Given the description of an element on the screen output the (x, y) to click on. 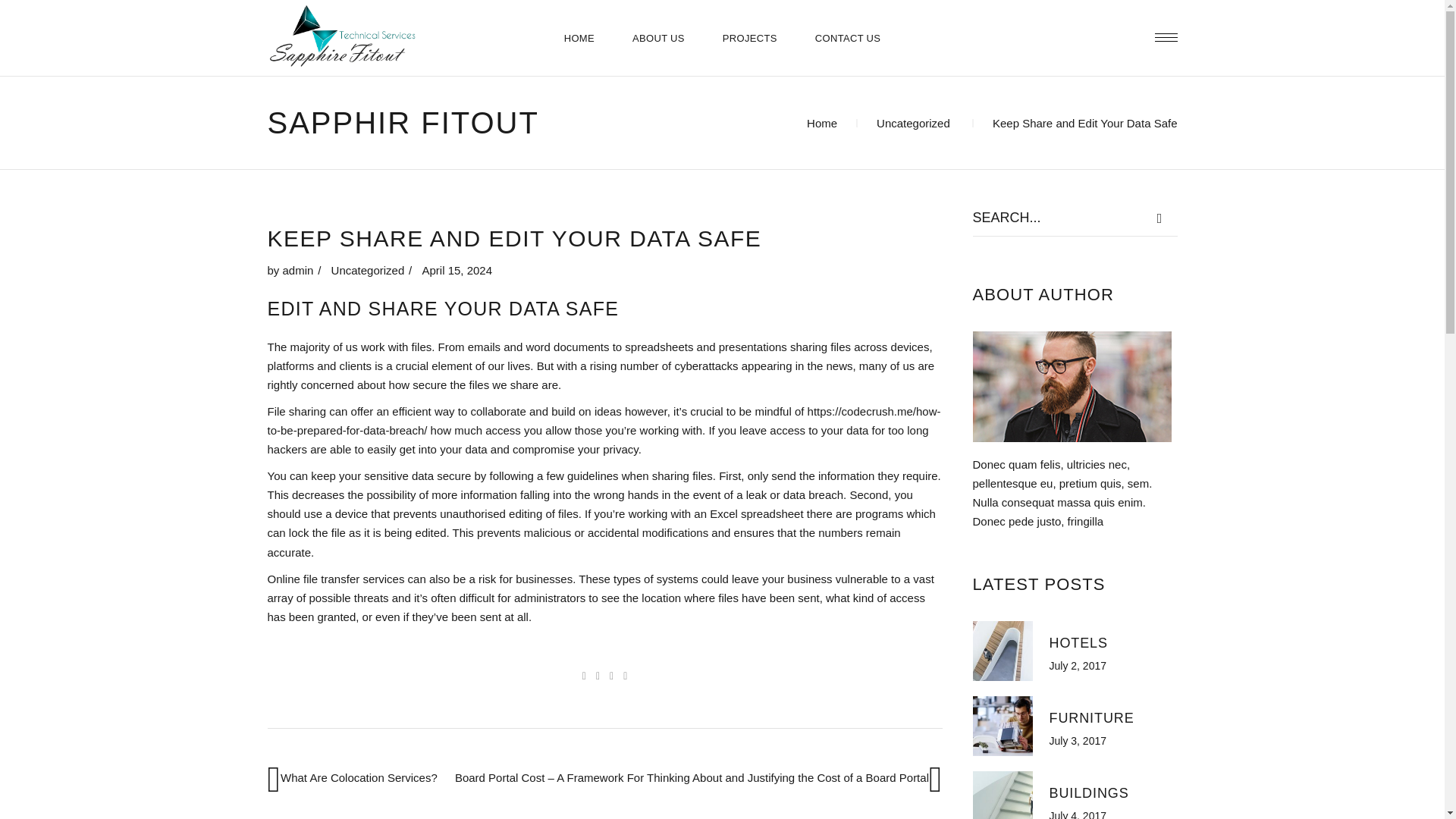
Buildings (1089, 792)
Furniture (1091, 717)
PROJECTS (749, 38)
Uncategorized (913, 122)
Hotels (1078, 642)
Uncategorized (367, 269)
Buildings (1002, 795)
Furniture (1002, 725)
Hotels (1002, 650)
ABOUT US (657, 38)
April 15, 2024 (457, 269)
Home (821, 122)
Search for: (1056, 217)
What Are Colocation Services? (359, 777)
CONTACT US (847, 38)
